Given the description of an element on the screen output the (x, y) to click on. 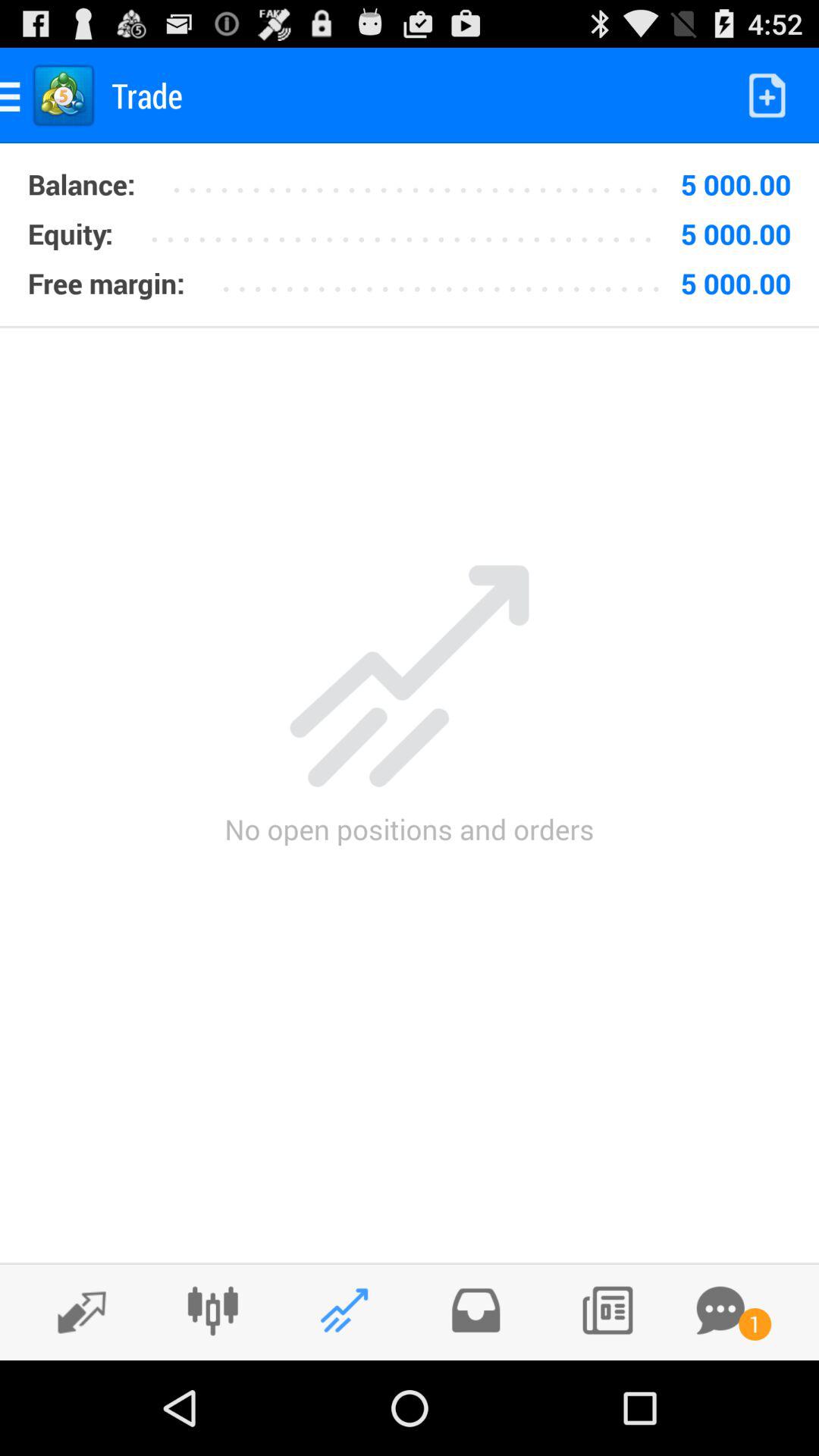
tap the item above free margin: (70, 233)
